Given the description of an element on the screen output the (x, y) to click on. 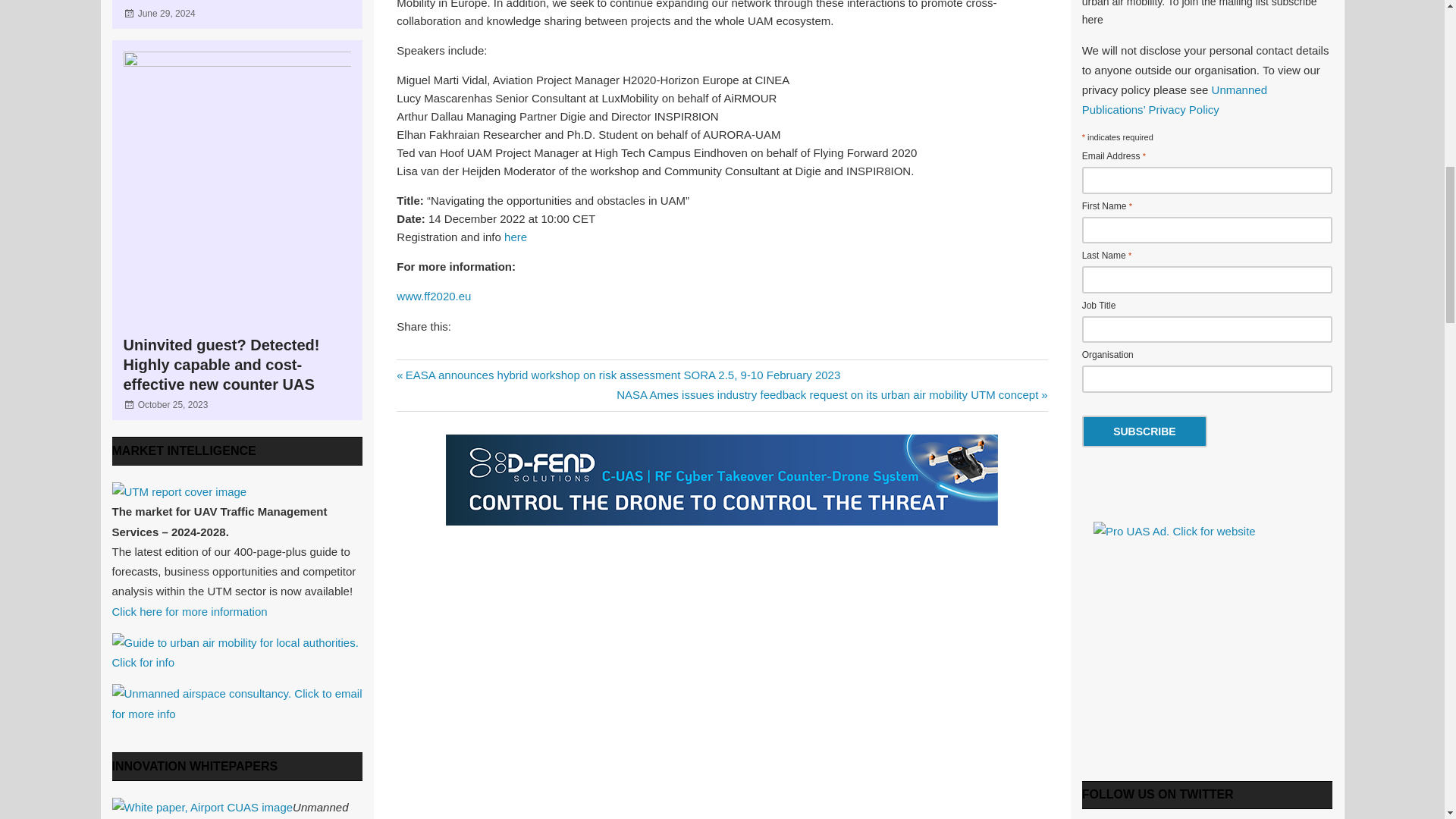
9:33 am (173, 404)
11:31 am (166, 13)
here (515, 236)
October 25, 2023 (173, 404)
June 29, 2024 (166, 13)
Subscribe (1144, 431)
